Given the description of an element on the screen output the (x, y) to click on. 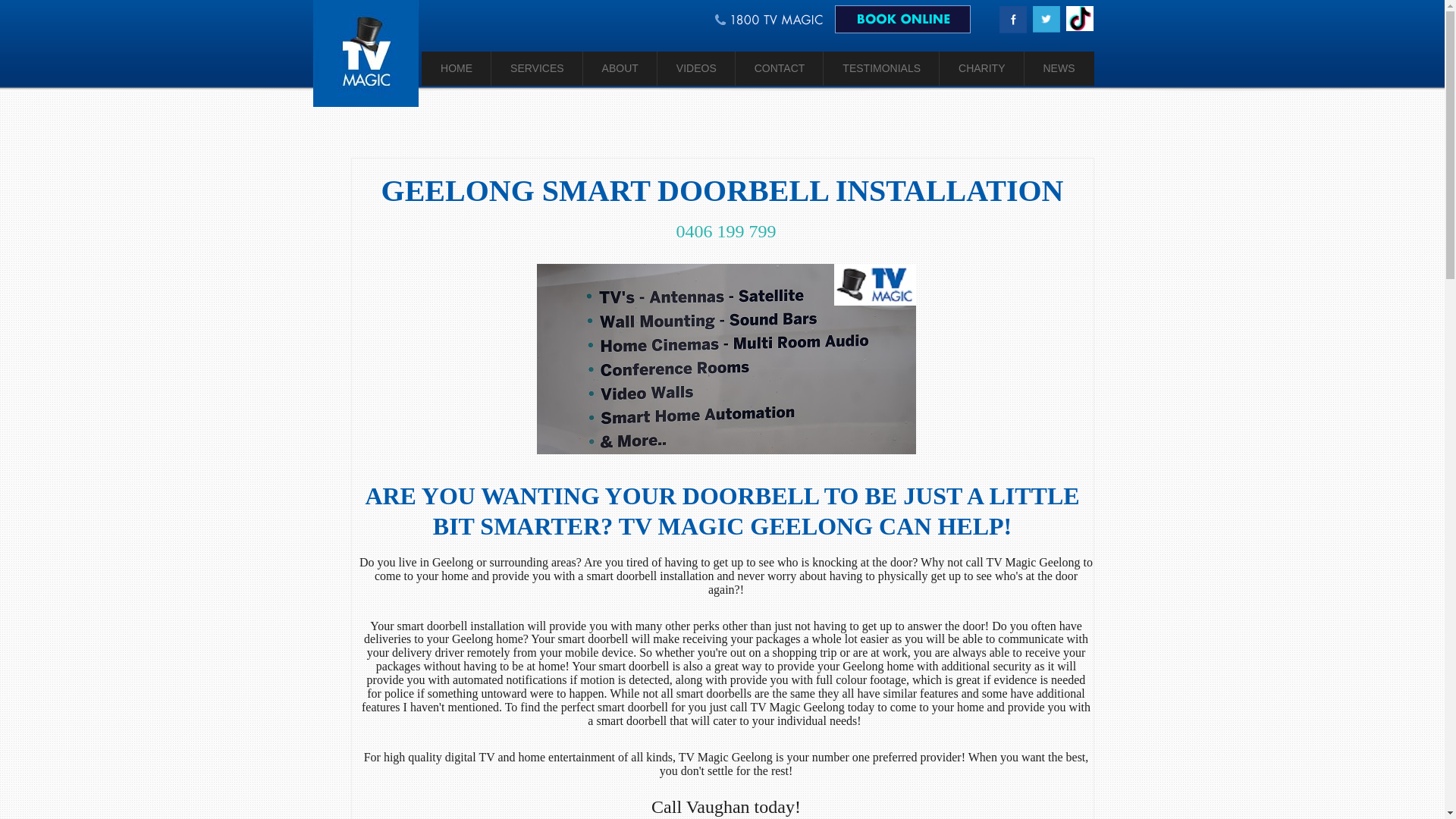
TESTIMONIALS (880, 68)
HOME (457, 68)
SERVICES (536, 68)
CONTACT (779, 68)
ABOUT (620, 68)
VIDEOS (695, 68)
